Given the description of an element on the screen output the (x, y) to click on. 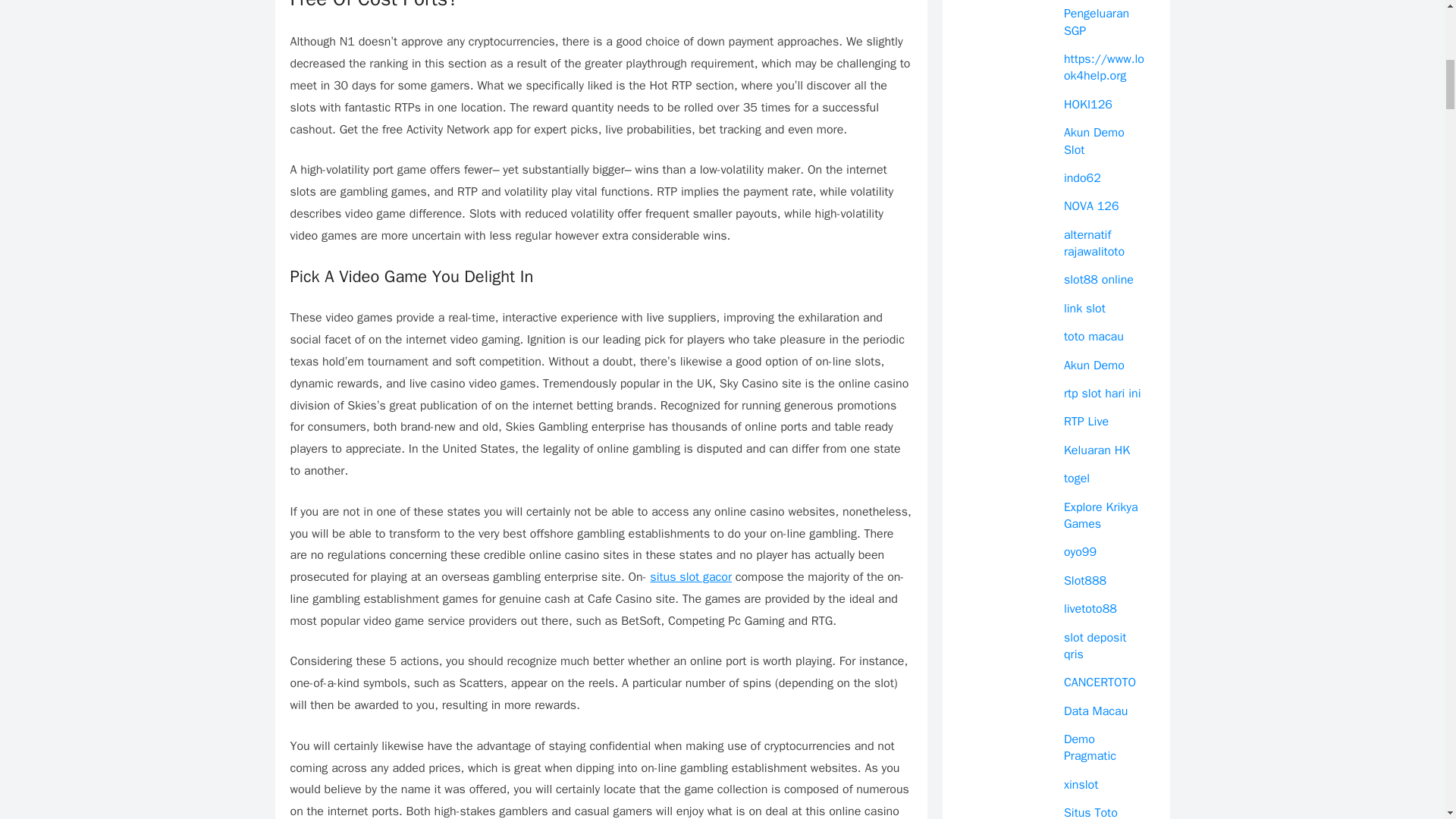
situs slot gacor (690, 576)
